Given the description of an element on the screen output the (x, y) to click on. 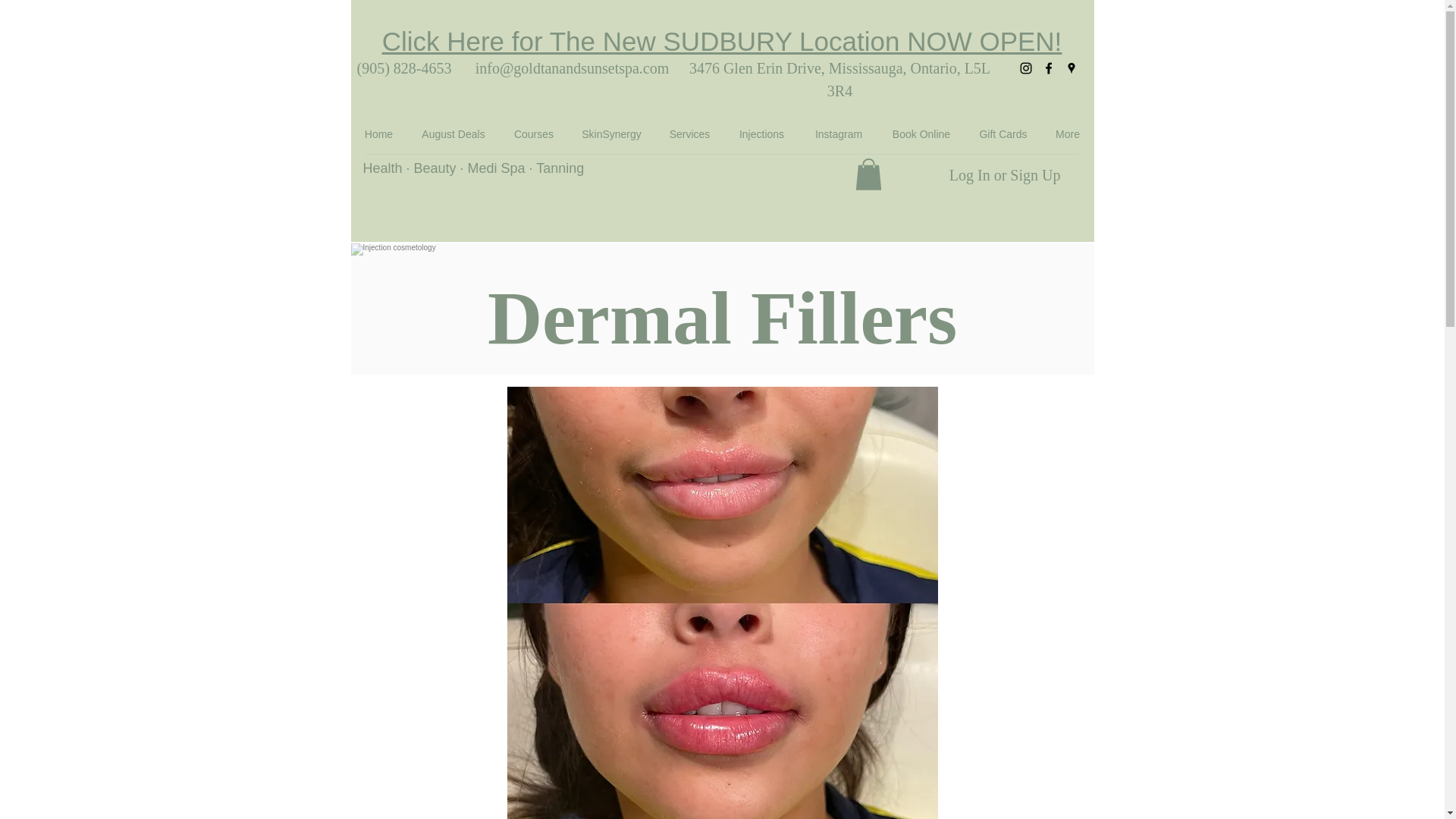
SkinSynergy (611, 134)
Click Here for The New SUDBURY Location NOW OPEN! (721, 41)
Gift Cards (1002, 134)
Services (689, 134)
Courses (533, 134)
August Deals (452, 134)
Injections (761, 134)
Home (378, 134)
Book Online (921, 134)
Instagram (838, 134)
